Given the description of an element on the screen output the (x, y) to click on. 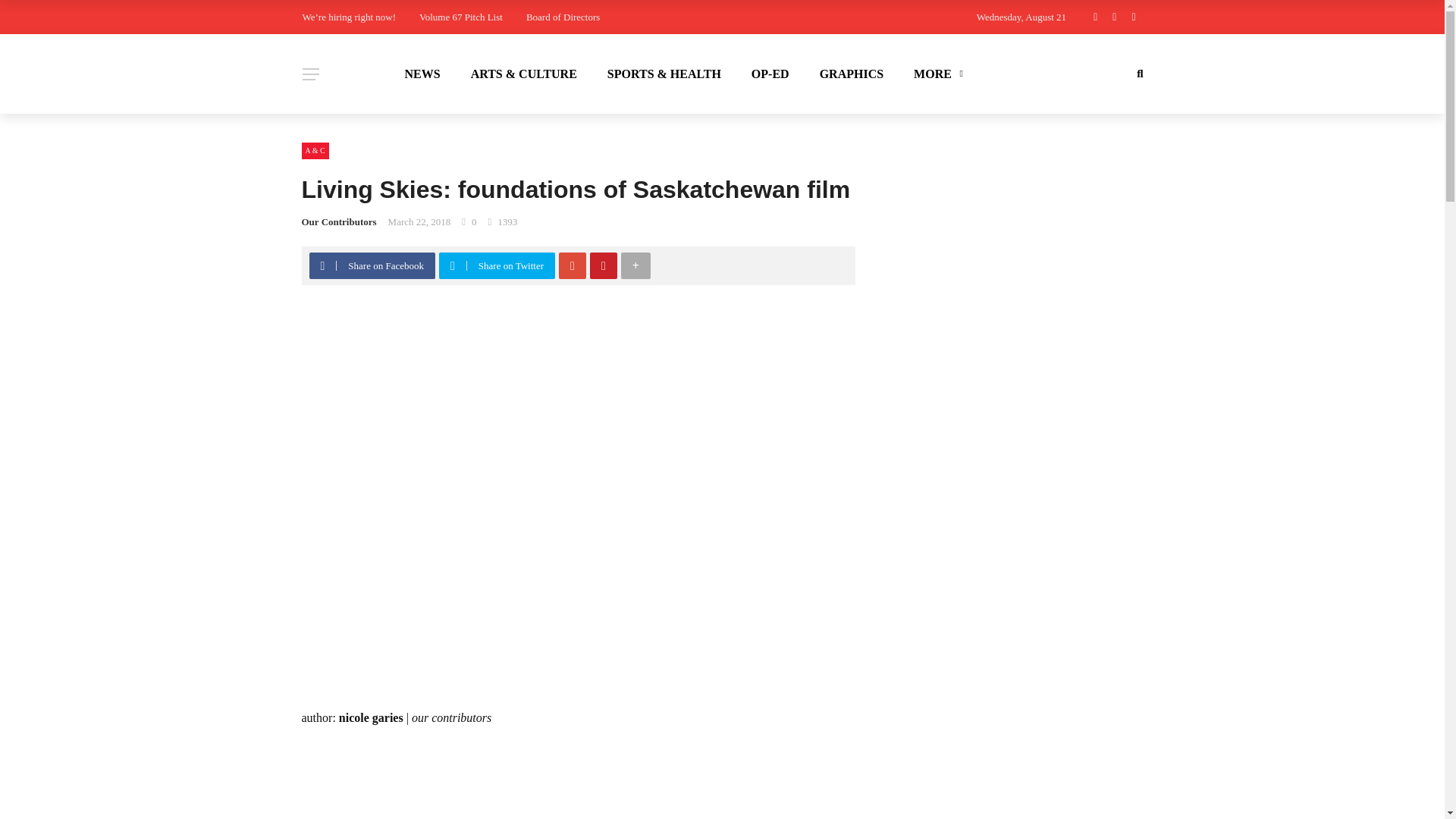
Volume 67 Pitch List (460, 16)
Board of Directors (562, 16)
MORE (936, 73)
GRAPHICS (851, 73)
